Given the description of an element on the screen output the (x, y) to click on. 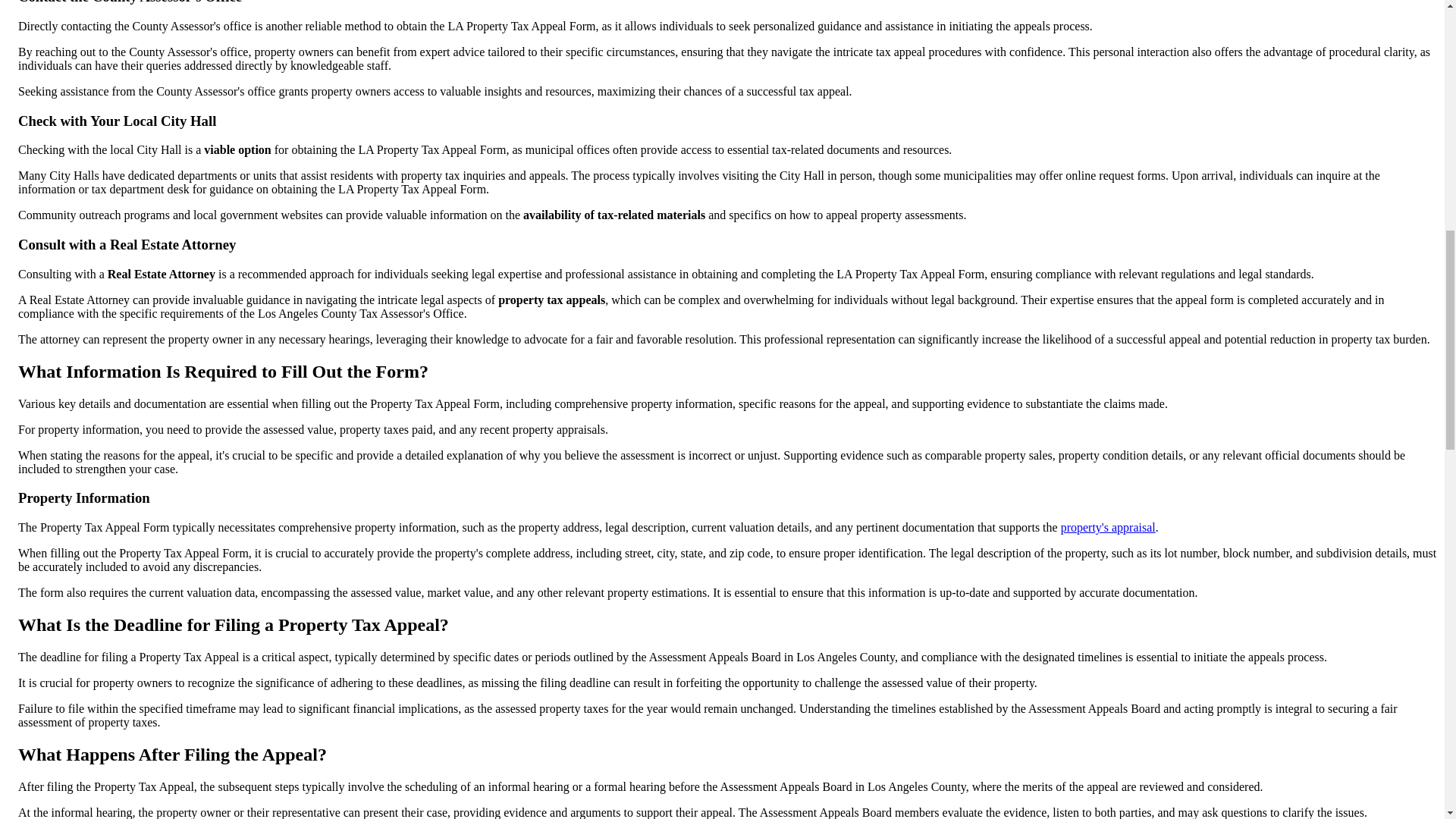
property's appraisal (1108, 526)
